Given the description of an element on the screen output the (x, y) to click on. 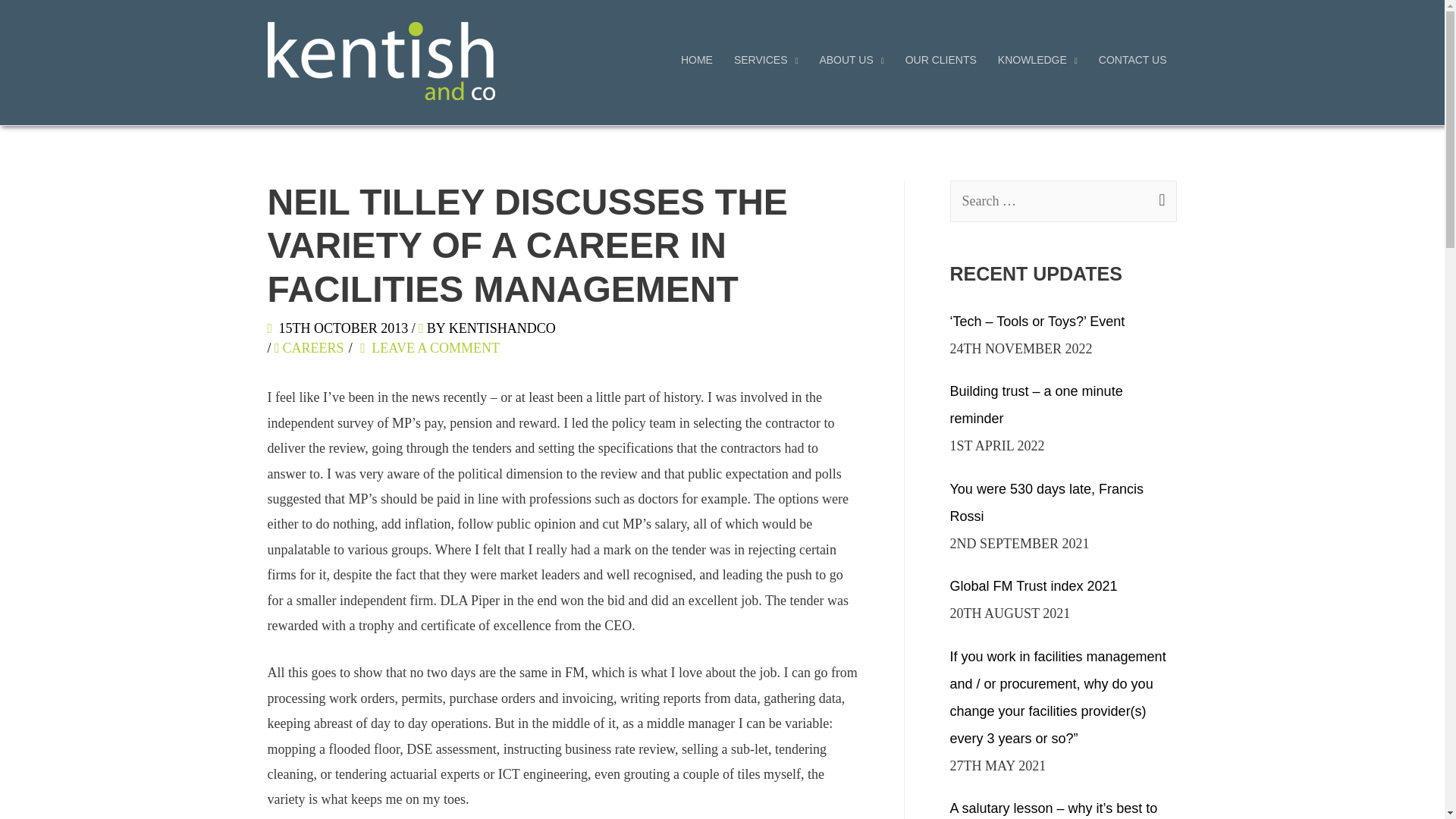
KNOWLEDGE (1037, 59)
HOME (696, 59)
Global FM Trust index 2021 (1032, 585)
KENTISHANDCO (502, 328)
ABOUT US (850, 59)
LEAVE A COMMENT (435, 347)
CAREERS (315, 347)
CONTACT US (1132, 59)
OUR CLIENTS (941, 59)
SERVICES (766, 59)
You were 530 days late, Francis Rossi (1045, 502)
View all posts by kentishandco (502, 328)
